Given the description of an element on the screen output the (x, y) to click on. 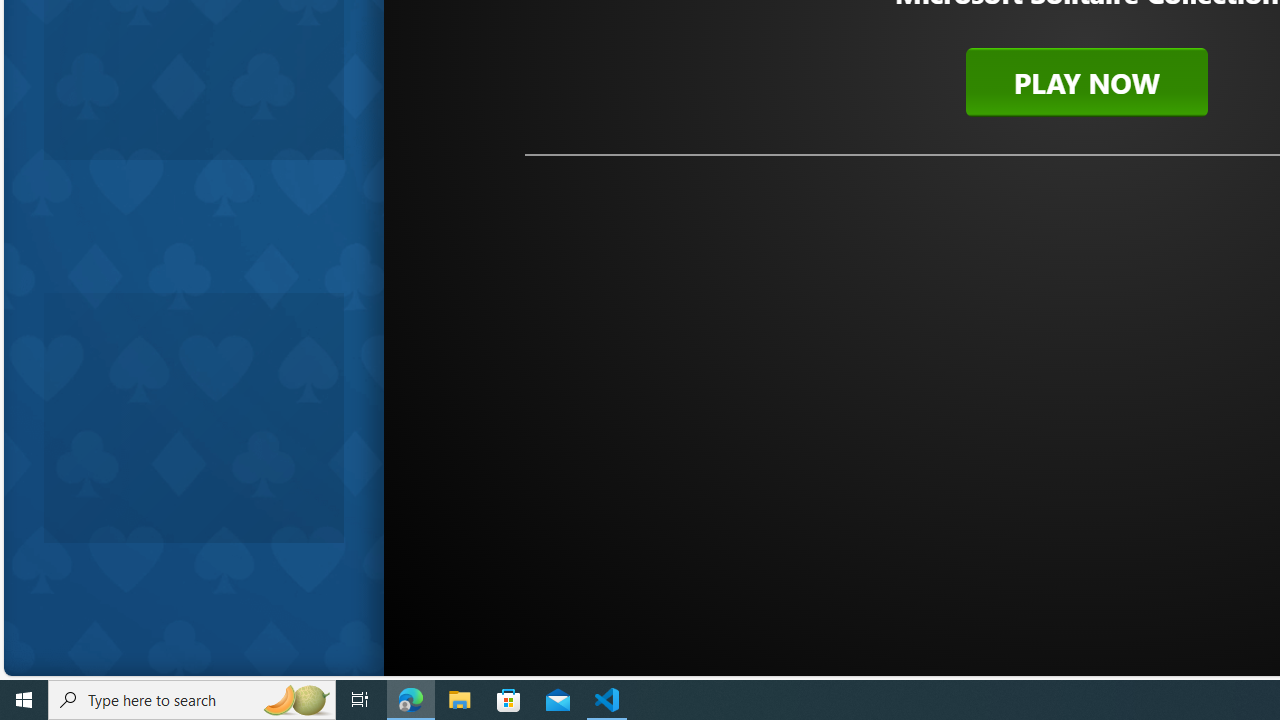
PLAY NOW (1086, 82)
